Given the description of an element on the screen output the (x, y) to click on. 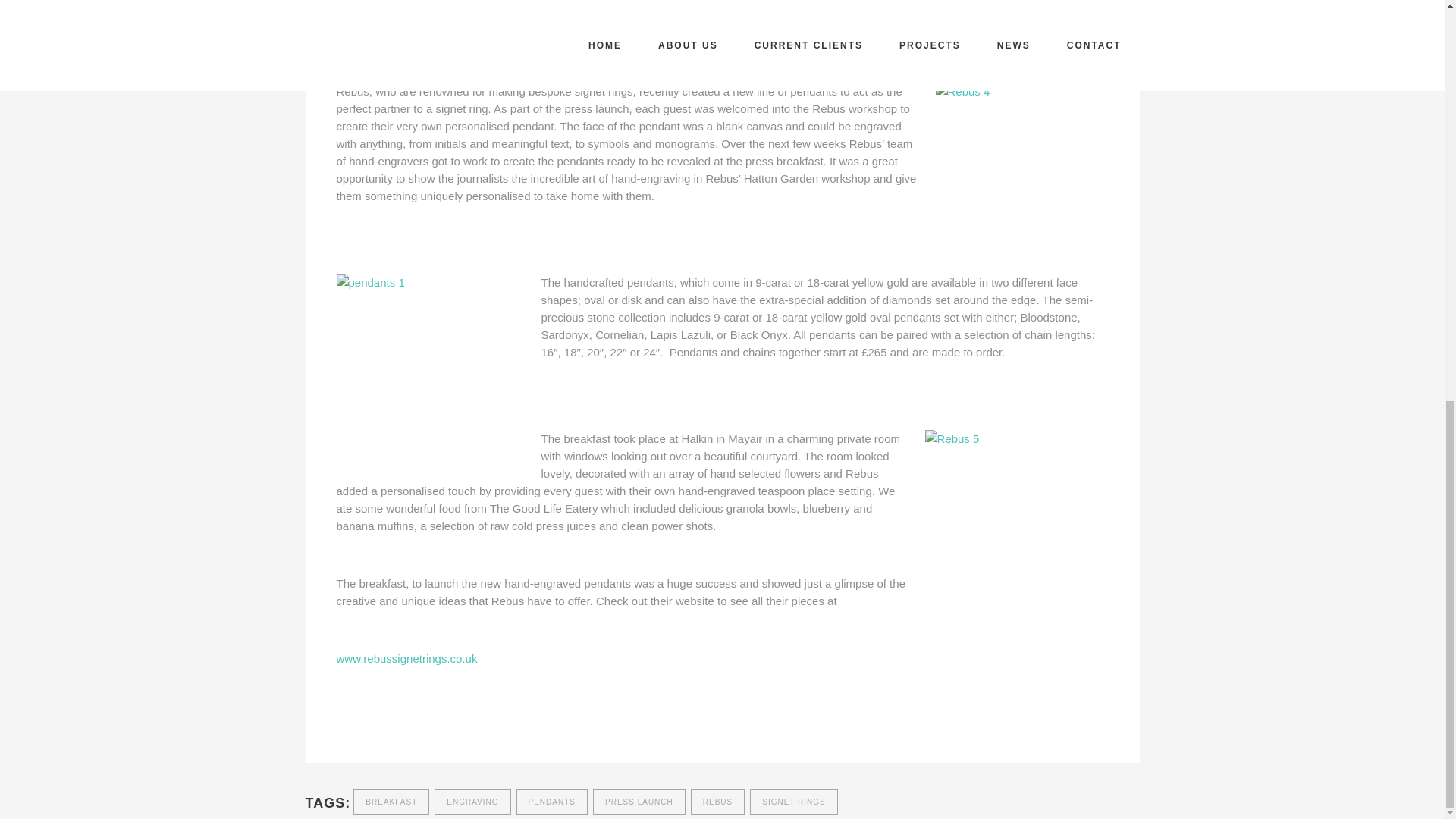
PENDANTS (552, 801)
ENGRAVING (472, 801)
SIGNET RINGS (793, 801)
BREAKFAST (391, 801)
www.rebussignetrings.co.uk (406, 658)
PRESS LAUNCH (638, 801)
REBUS (717, 801)
